Given the description of an element on the screen output the (x, y) to click on. 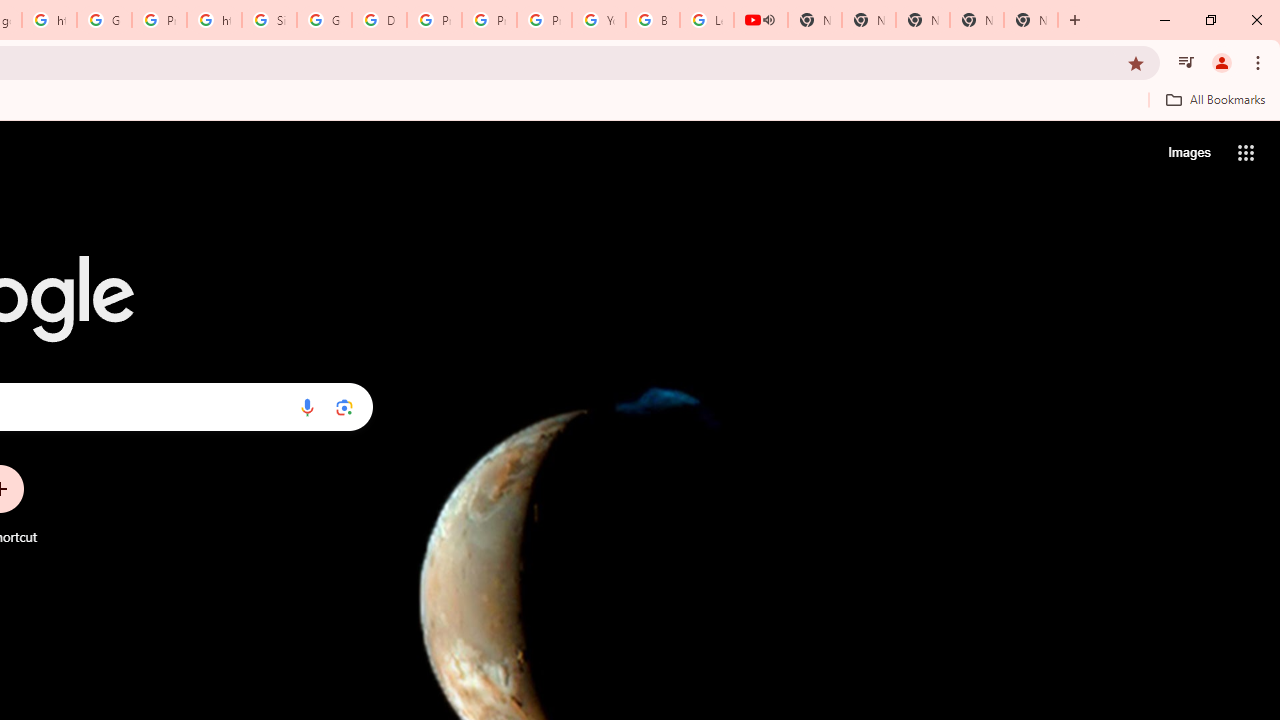
Sign in - Google Accounts (268, 20)
Privacy Help Center - Policies Help (434, 20)
https://scholar.google.com/ (213, 20)
YouTube (598, 20)
